Given the description of an element on the screen output the (x, y) to click on. 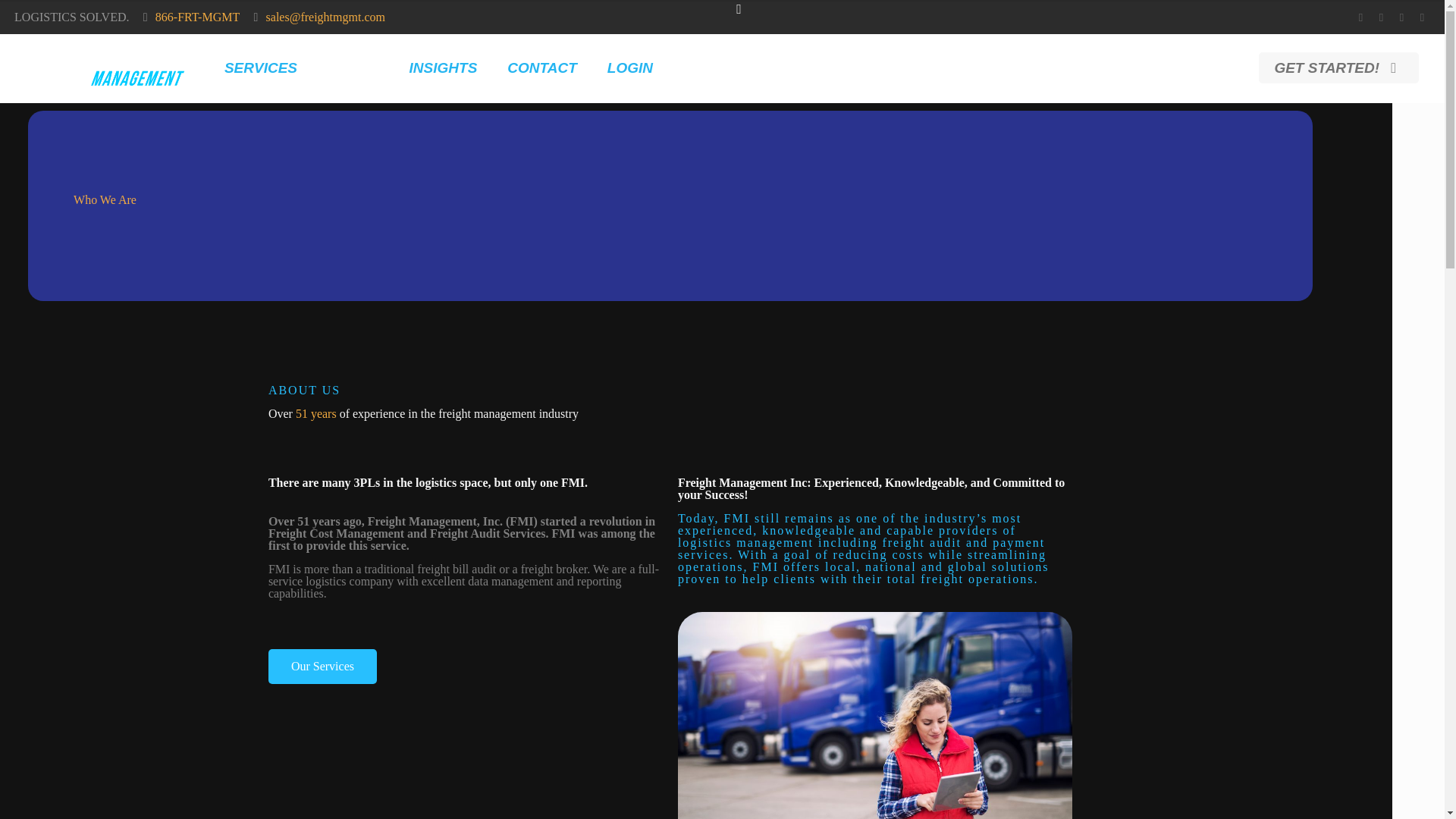
GET STARTED! (1338, 67)
CONTACT (541, 68)
866-FRT-MGMT (197, 16)
Our Services (322, 666)
ABOUT (353, 68)
LinkedIn (1401, 17)
Facebook (1360, 17)
LOGIN (630, 68)
INSIGHTS (443, 68)
Freight Management Technology and EDI (107, 68)
YouTube (1381, 17)
SERVICES (261, 68)
